Given the description of an element on the screen output the (x, y) to click on. 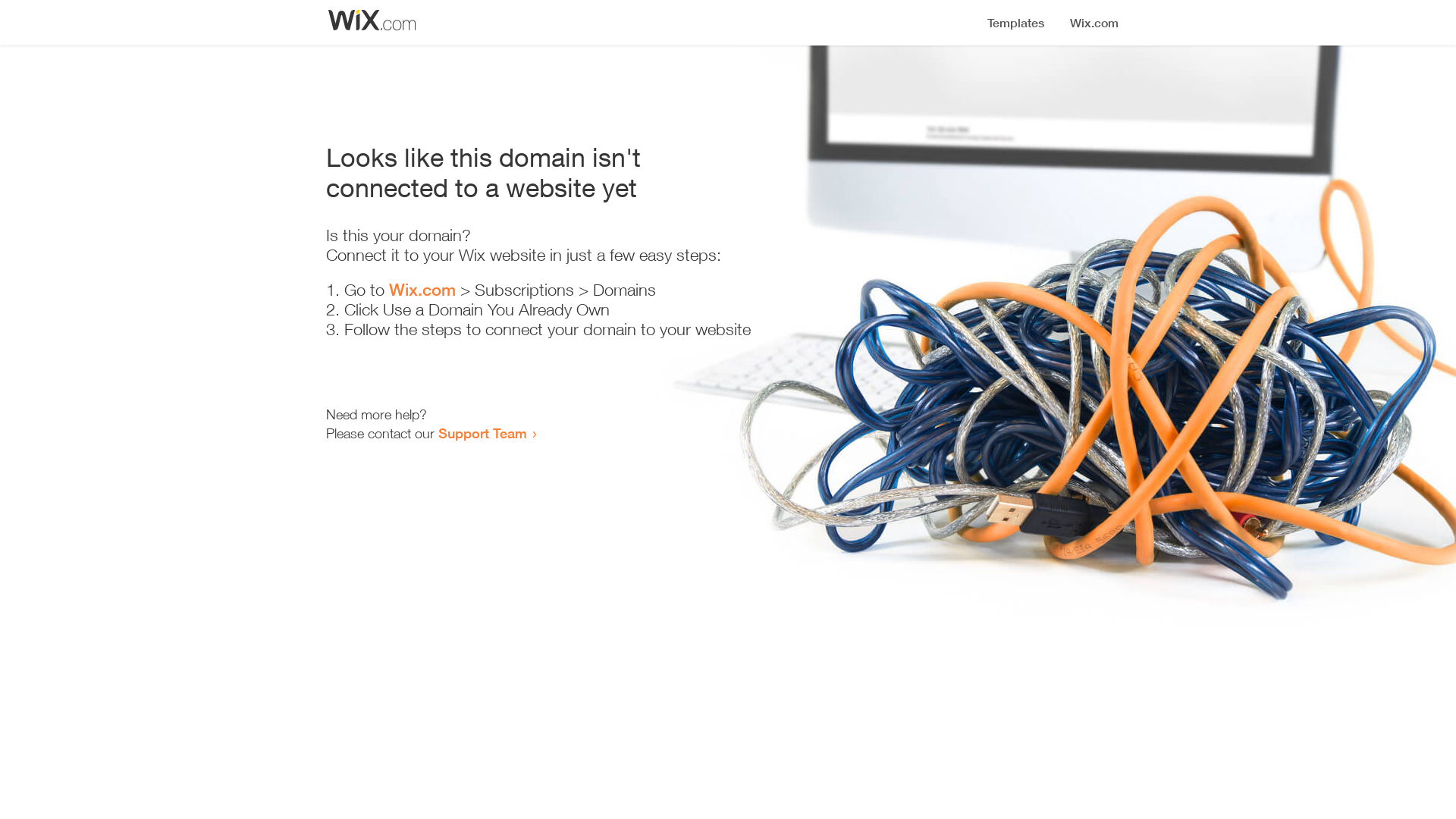
Wix.com Element type: text (422, 289)
Support Team Element type: text (482, 432)
